Given the description of an element on the screen output the (x, y) to click on. 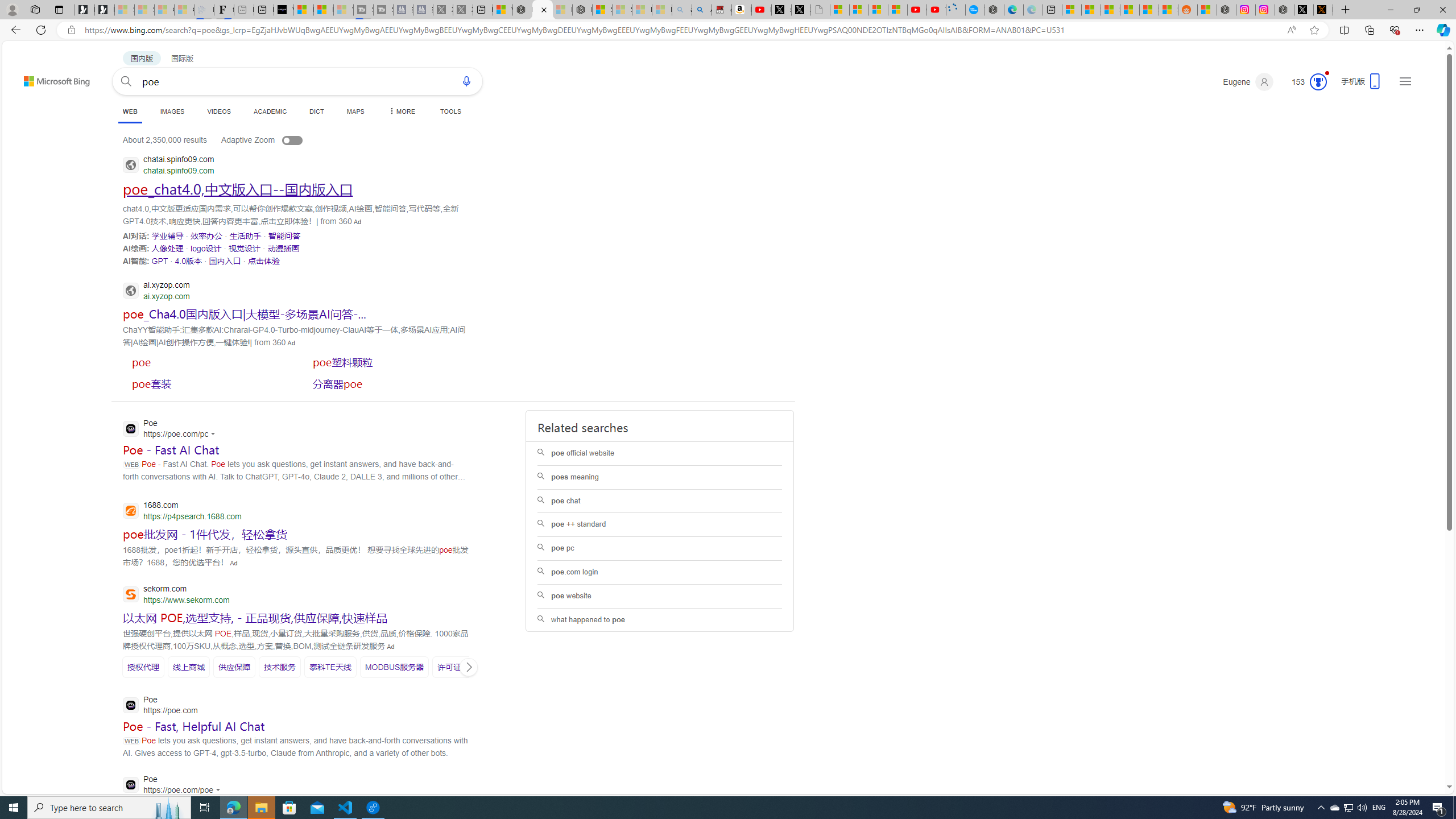
Microsoft Start Sports (303, 9)
Split screen (1344, 29)
Nordace (@NordaceOfficial) / X (1303, 9)
DICT (316, 111)
SERP,5595 (142, 666)
SERP,5562 (167, 235)
TOOLS (450, 111)
WEB (129, 112)
SERP,5573 (263, 260)
New Tab (1346, 9)
